Given the description of an element on the screen output the (x, y) to click on. 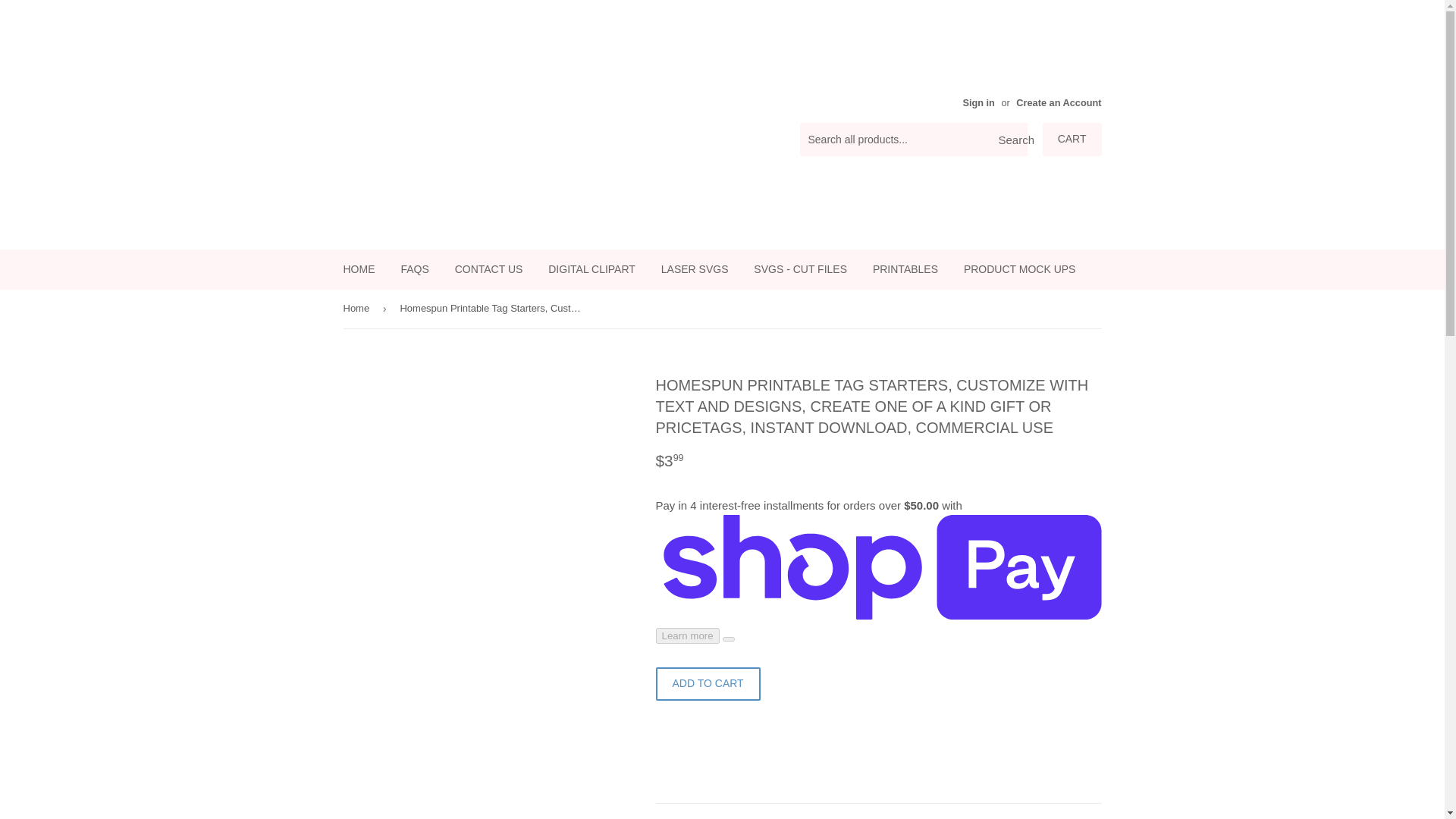
CART (1072, 139)
Create an Account (1058, 102)
Search (1009, 140)
Sign in (978, 102)
